Given the description of an element on the screen output the (x, y) to click on. 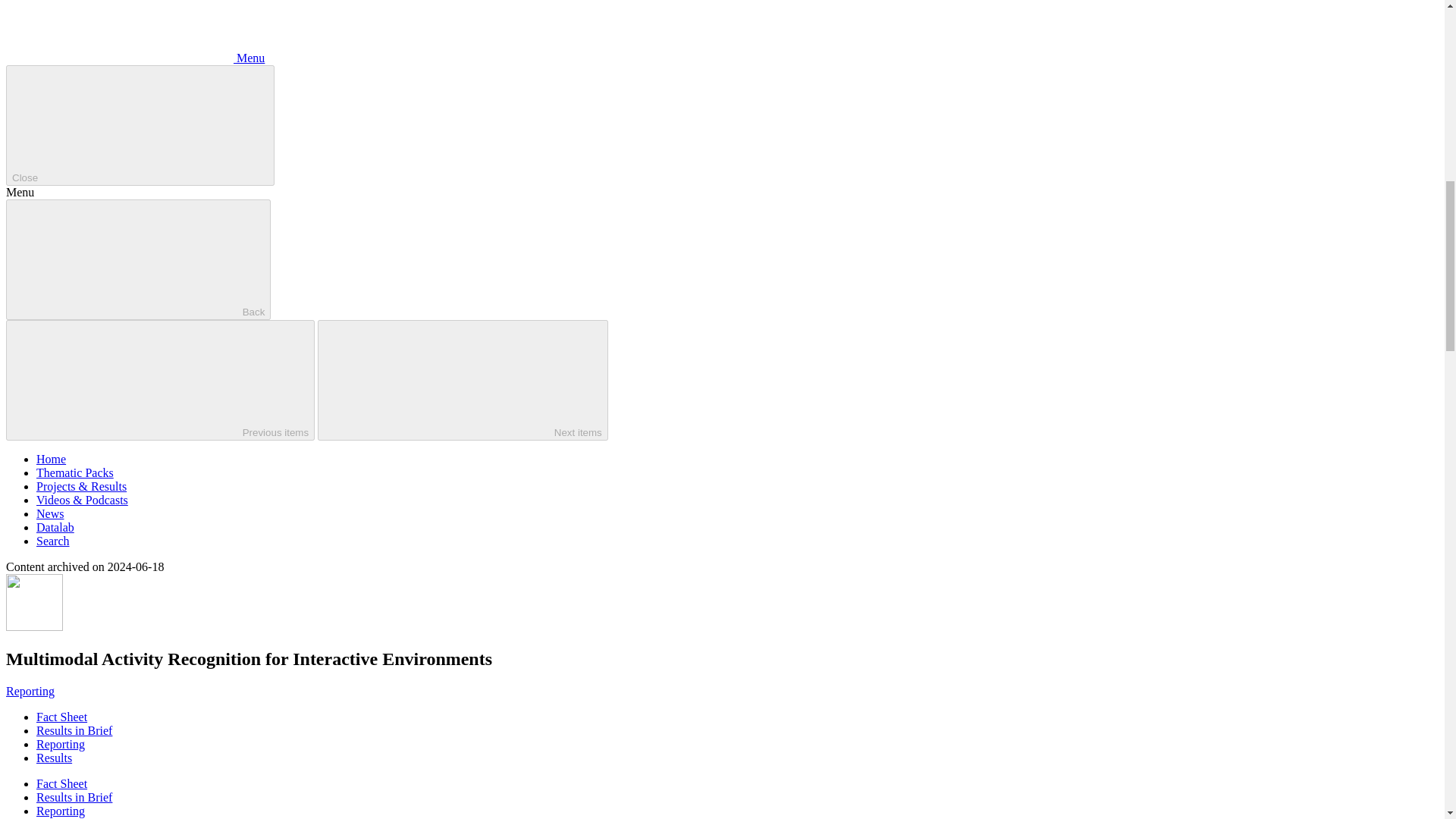
Search (52, 540)
Fact Sheet (61, 716)
Thematic Packs (74, 472)
Home (50, 459)
News (50, 513)
Reporting (60, 810)
Close (140, 125)
Reporting (30, 690)
Datalab (55, 526)
